Given the description of an element on the screen output the (x, y) to click on. 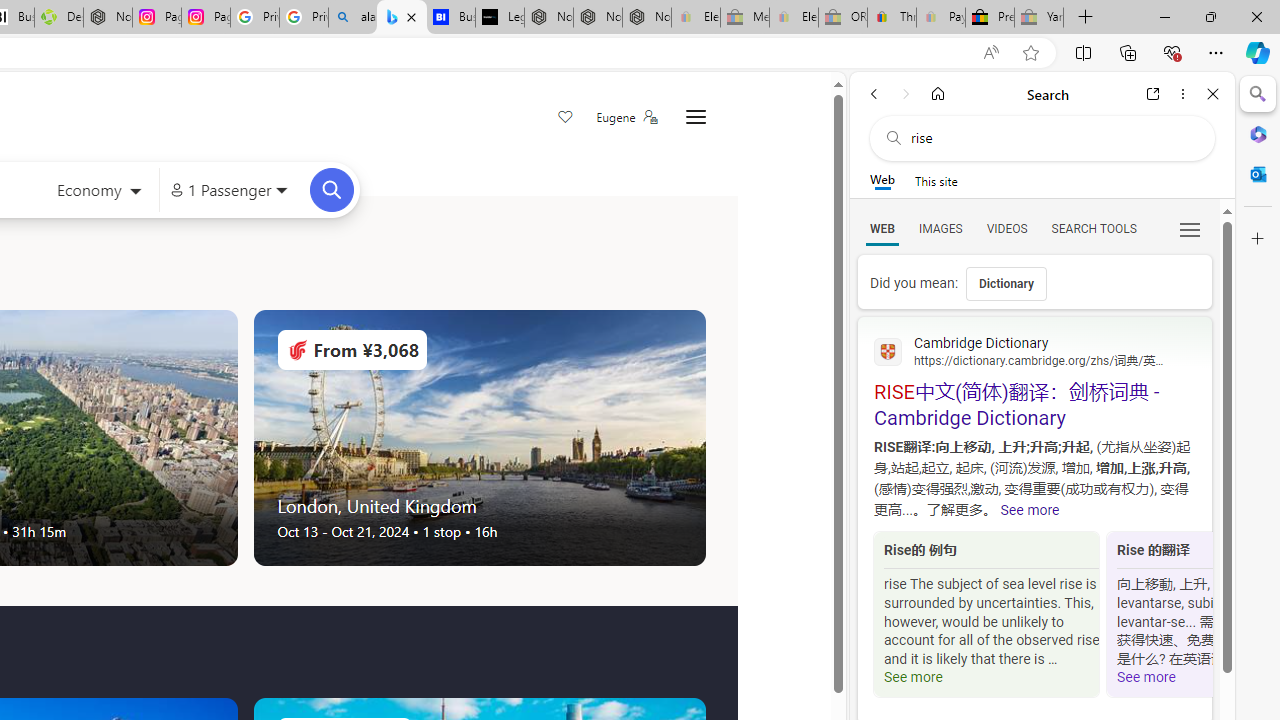
Cambridge Dictionary (1034, 349)
Save (565, 118)
